Given the description of an element on the screen output the (x, y) to click on. 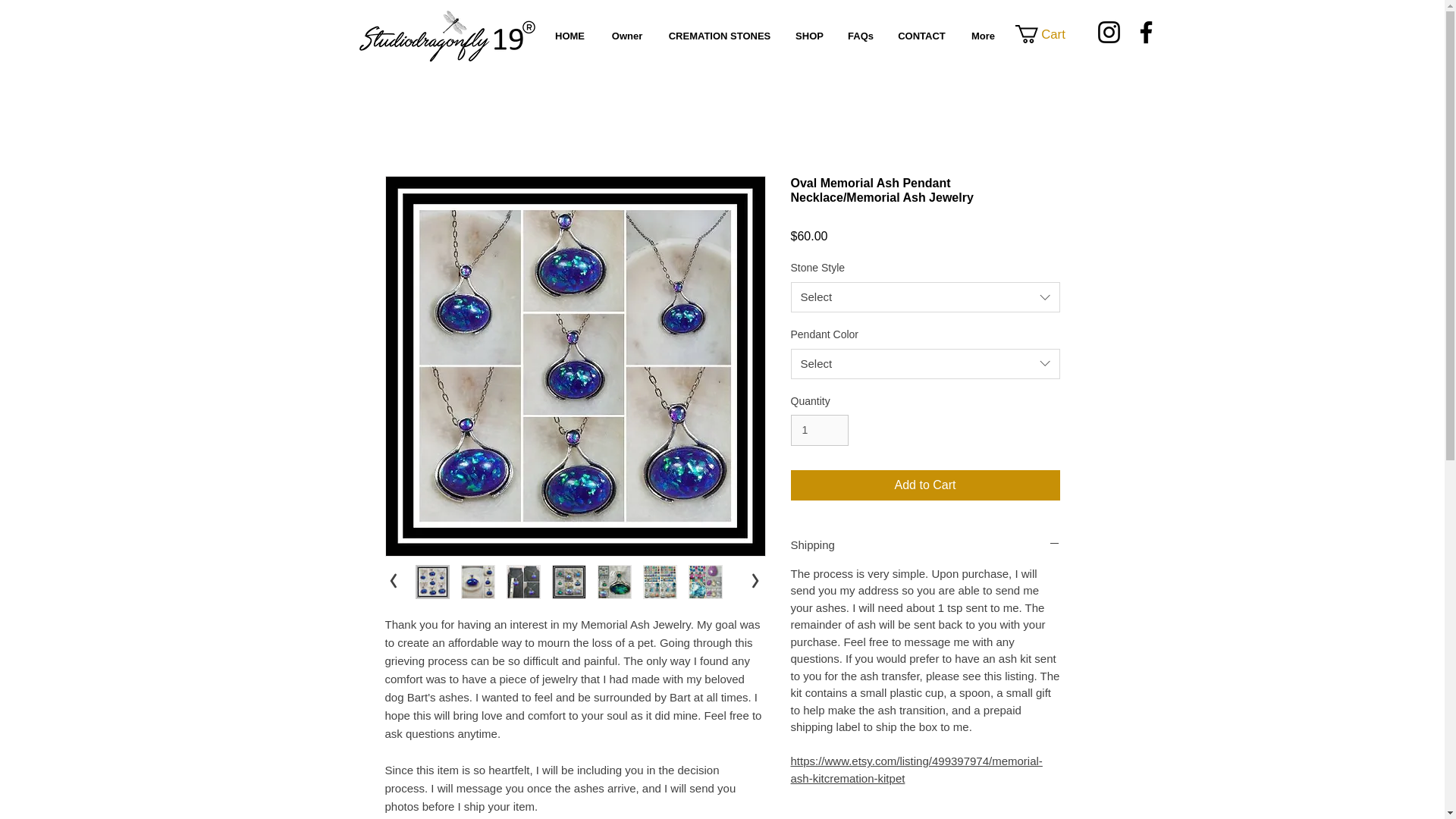
1 (818, 429)
FAQs (860, 36)
CREMATION STONES (719, 36)
Cart (1048, 34)
Add to Cart (924, 485)
Cart (1048, 34)
CONTACT (921, 36)
Select (924, 296)
HOME (568, 36)
Owner (626, 36)
